Given the description of an element on the screen output the (x, y) to click on. 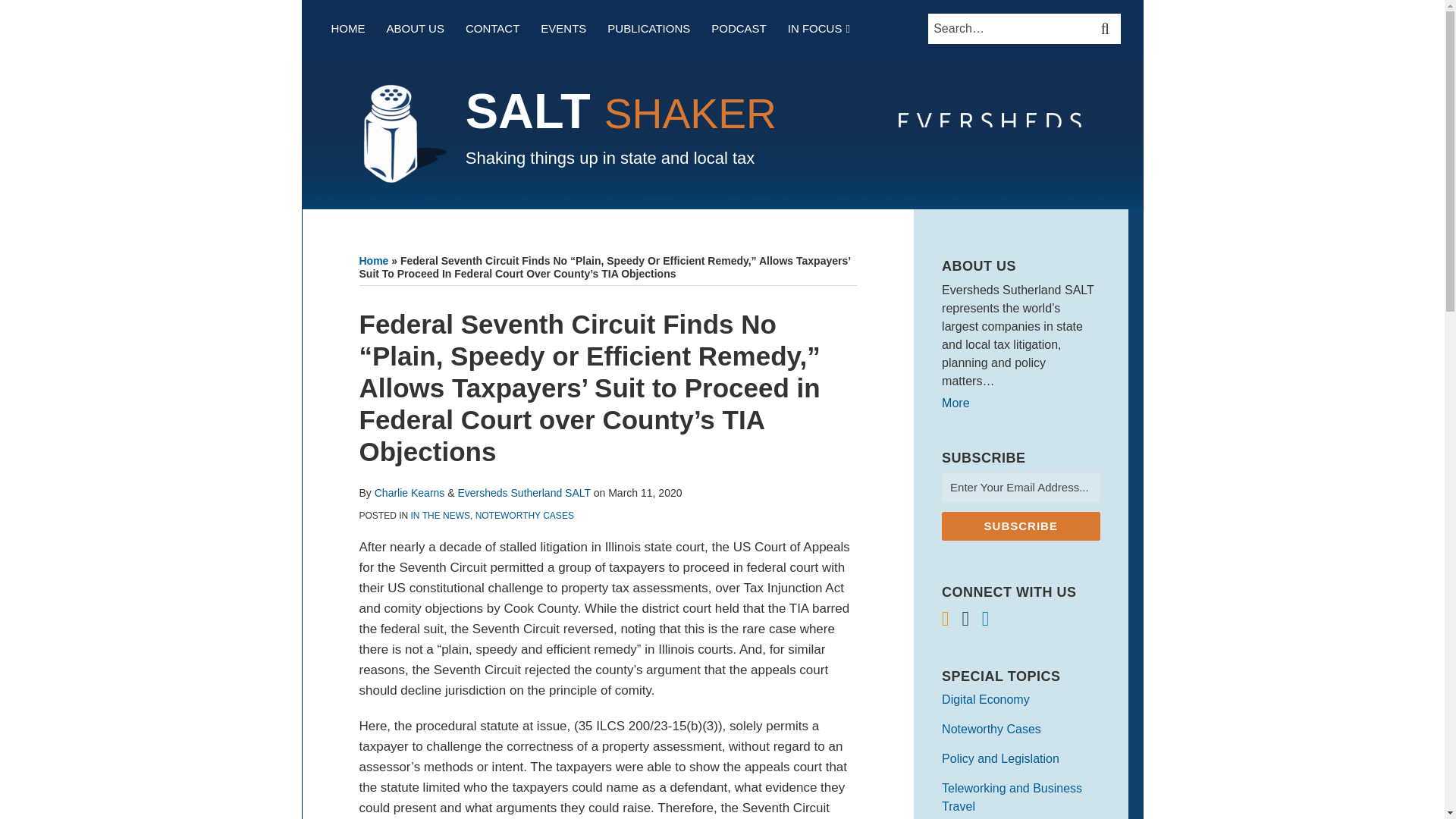
Eversheds Sutherland SALT (523, 492)
Charlie Kearns (409, 492)
NOTEWORTHY CASES (524, 515)
ABOUT US (415, 28)
CONTACT (492, 28)
PUBLICATIONS (648, 28)
EVENTS (563, 28)
Subscribe (1020, 525)
SALT SHAKER (620, 110)
PODCAST (739, 28)
SEARCH (1107, 28)
IN FOCUS (815, 28)
HOME (347, 28)
IN THE NEWS (440, 515)
Home (373, 260)
